Given the description of an element on the screen output the (x, y) to click on. 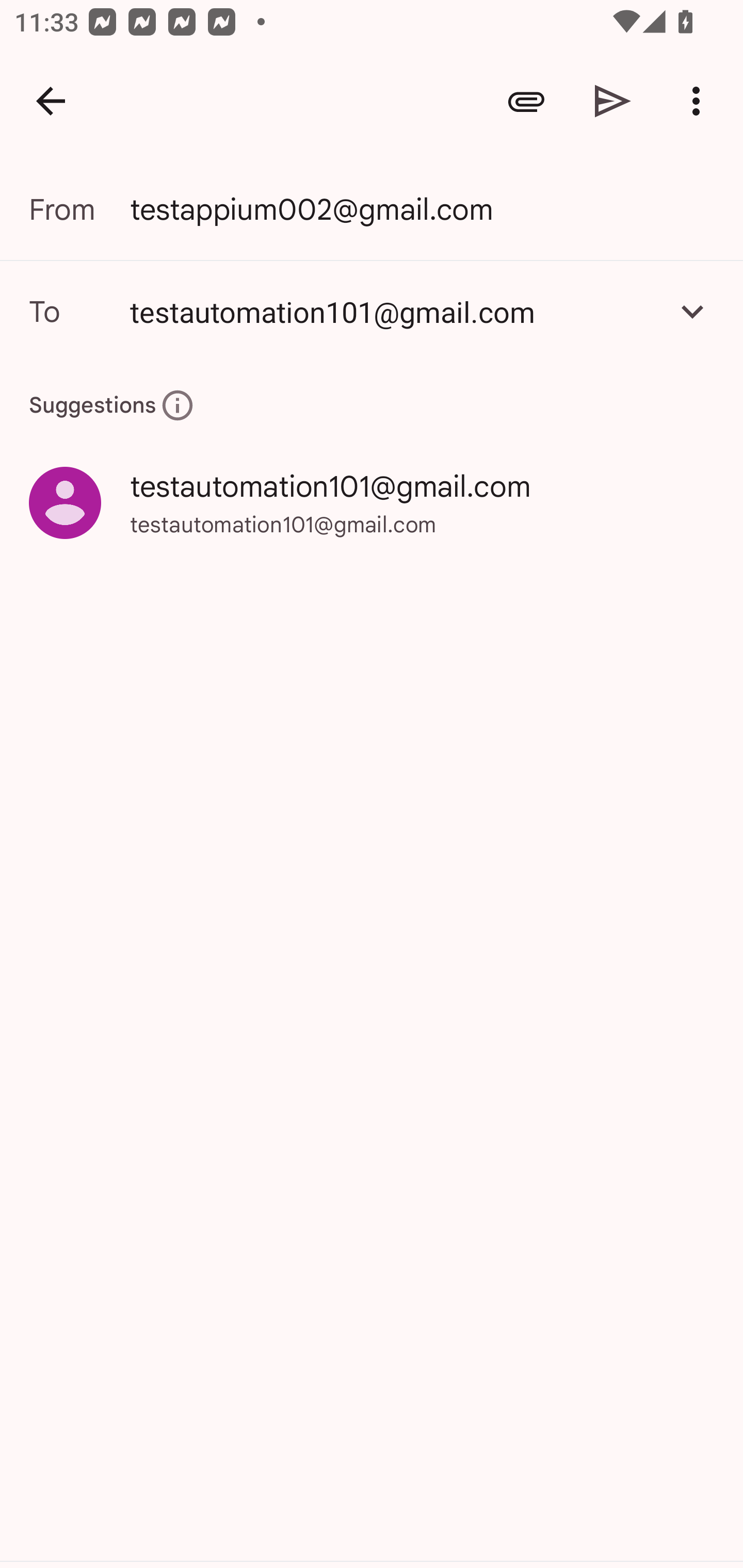
Navigate up (50, 101)
Attach file (525, 101)
Send (612, 101)
More options (699, 101)
From (79, 209)
Add Cc/Bcc (692, 311)
testautomation101@gmail.com (371, 311)
testautomation101@gmail.com (393, 311)
